Given the description of an element on the screen output the (x, y) to click on. 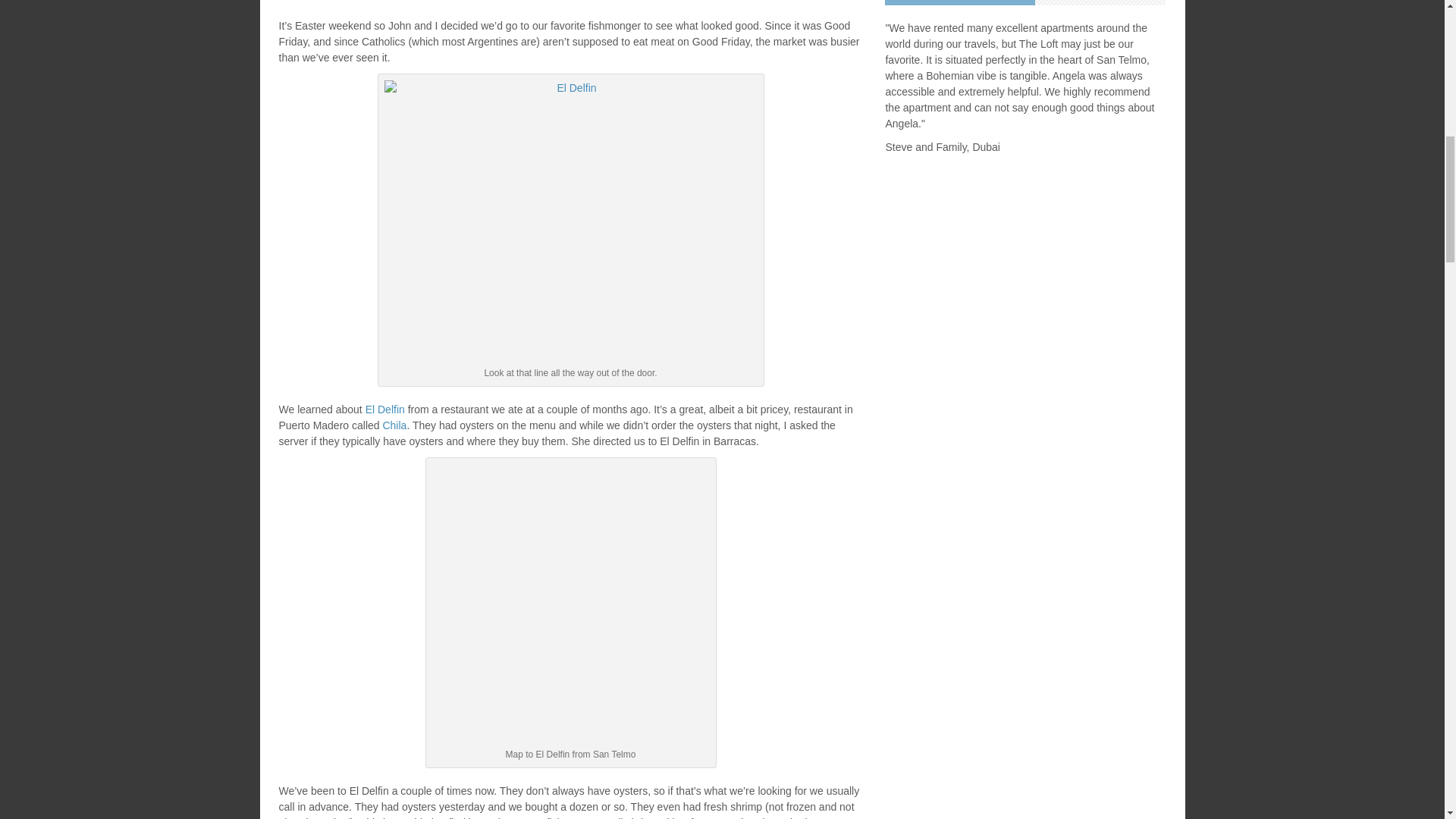
El Delfin (384, 409)
Map to El Delfin (571, 603)
Chila (393, 425)
El Delfin (384, 409)
Chila (393, 425)
El Delfin (570, 220)
